Given the description of an element on the screen output the (x, y) to click on. 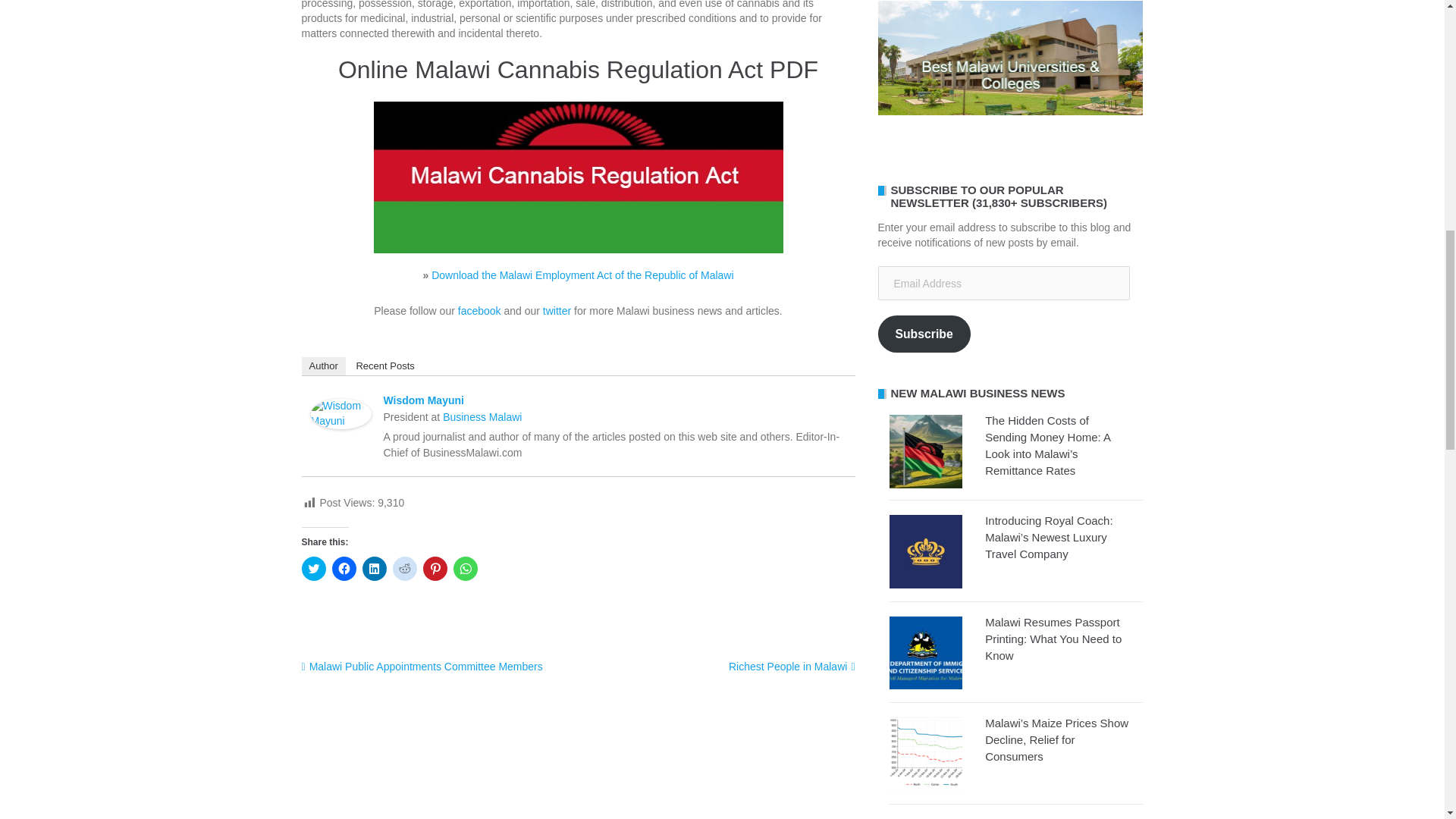
Click to share on Facebook (343, 568)
Click to share on Reddit (404, 568)
Click to share on LinkedIn (374, 568)
Click to share on Pinterest (434, 568)
Wisdom Mayuni (341, 417)
Click to share on Twitter (313, 568)
Click to share on WhatsApp (464, 568)
